Given the description of an element on the screen output the (x, y) to click on. 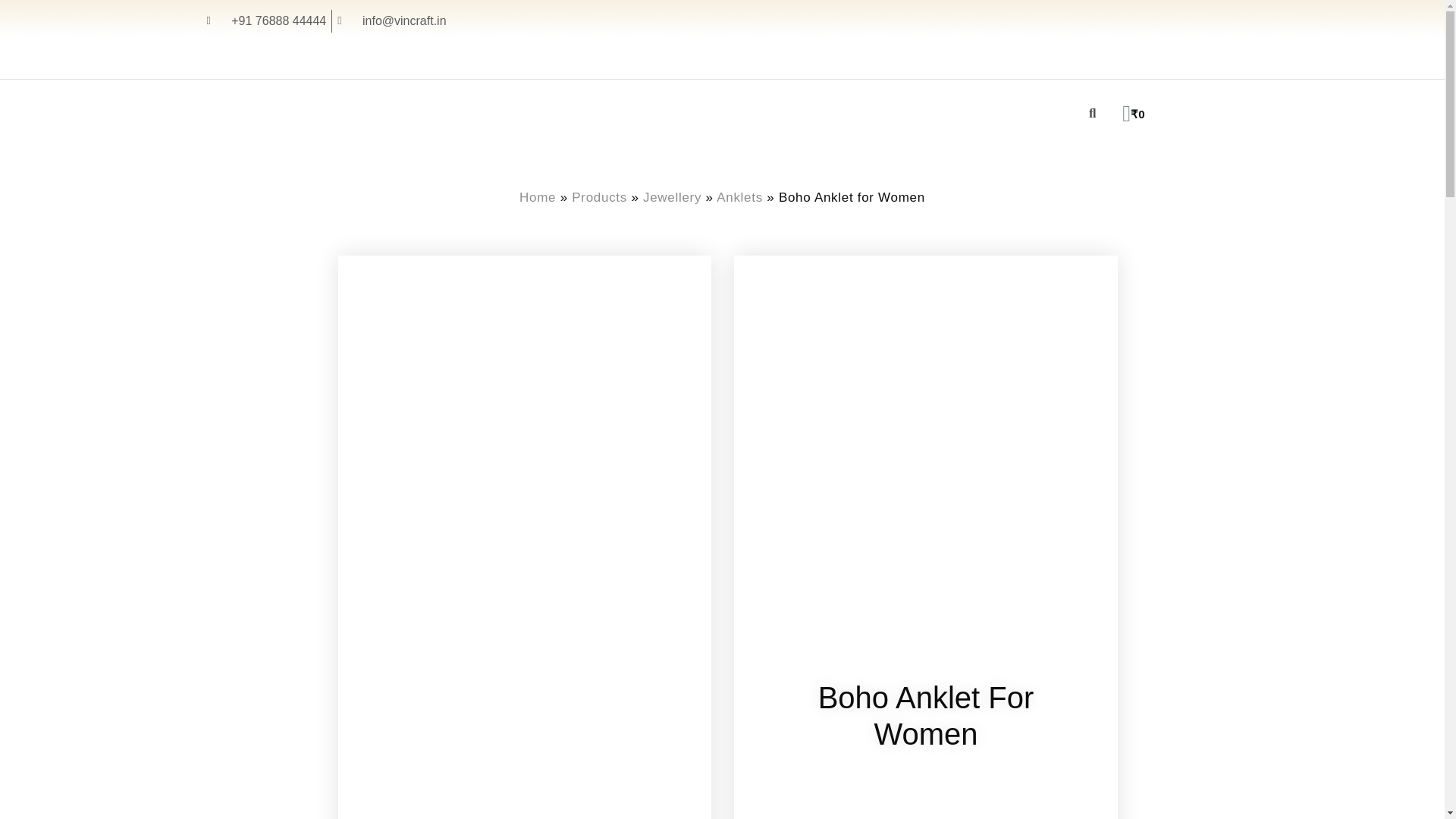
Home (537, 197)
Anklets (739, 197)
Jewellery (672, 197)
Products (599, 197)
